Given the description of an element on the screen output the (x, y) to click on. 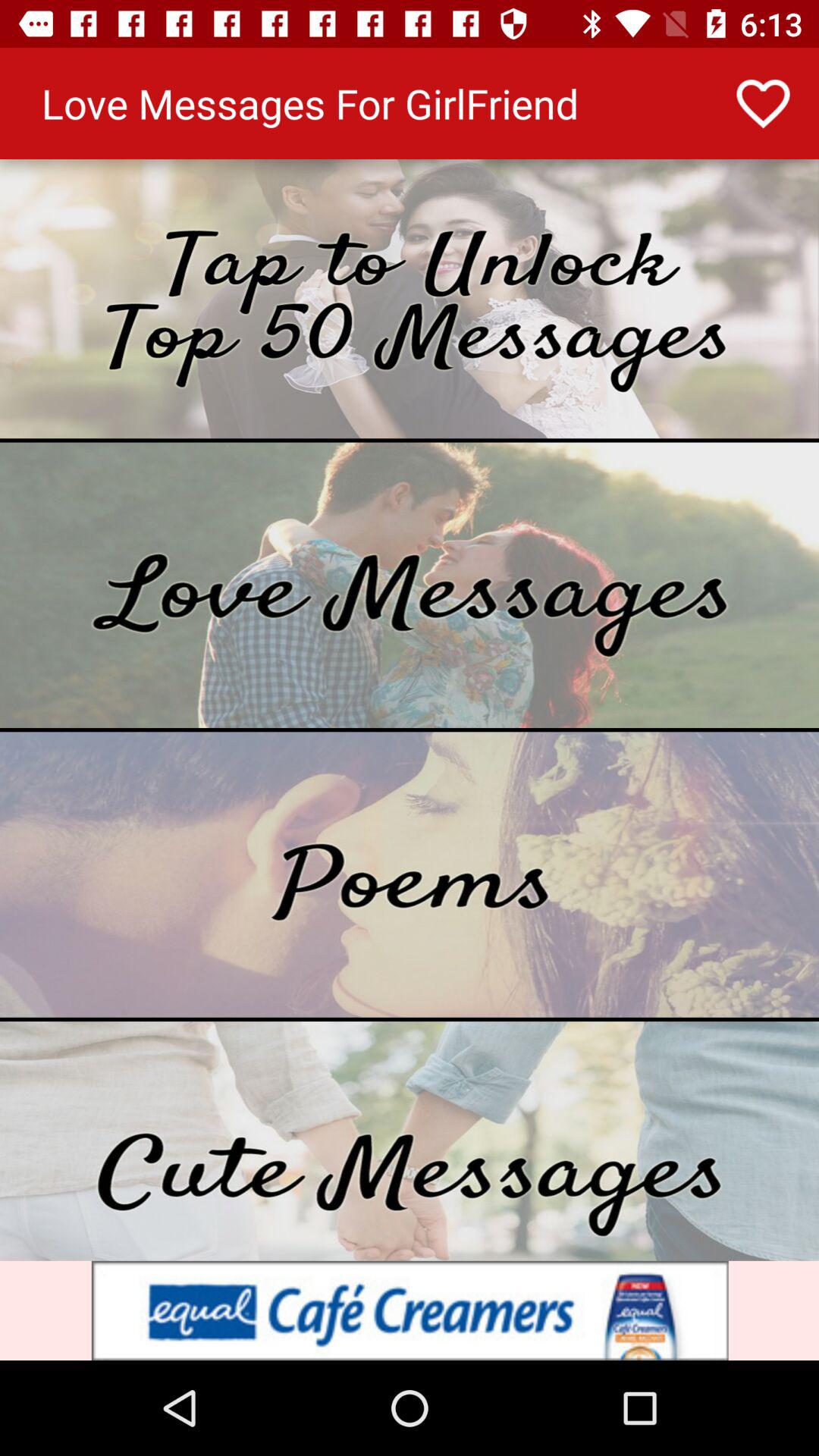
view poems (409, 874)
